Given the description of an element on the screen output the (x, y) to click on. 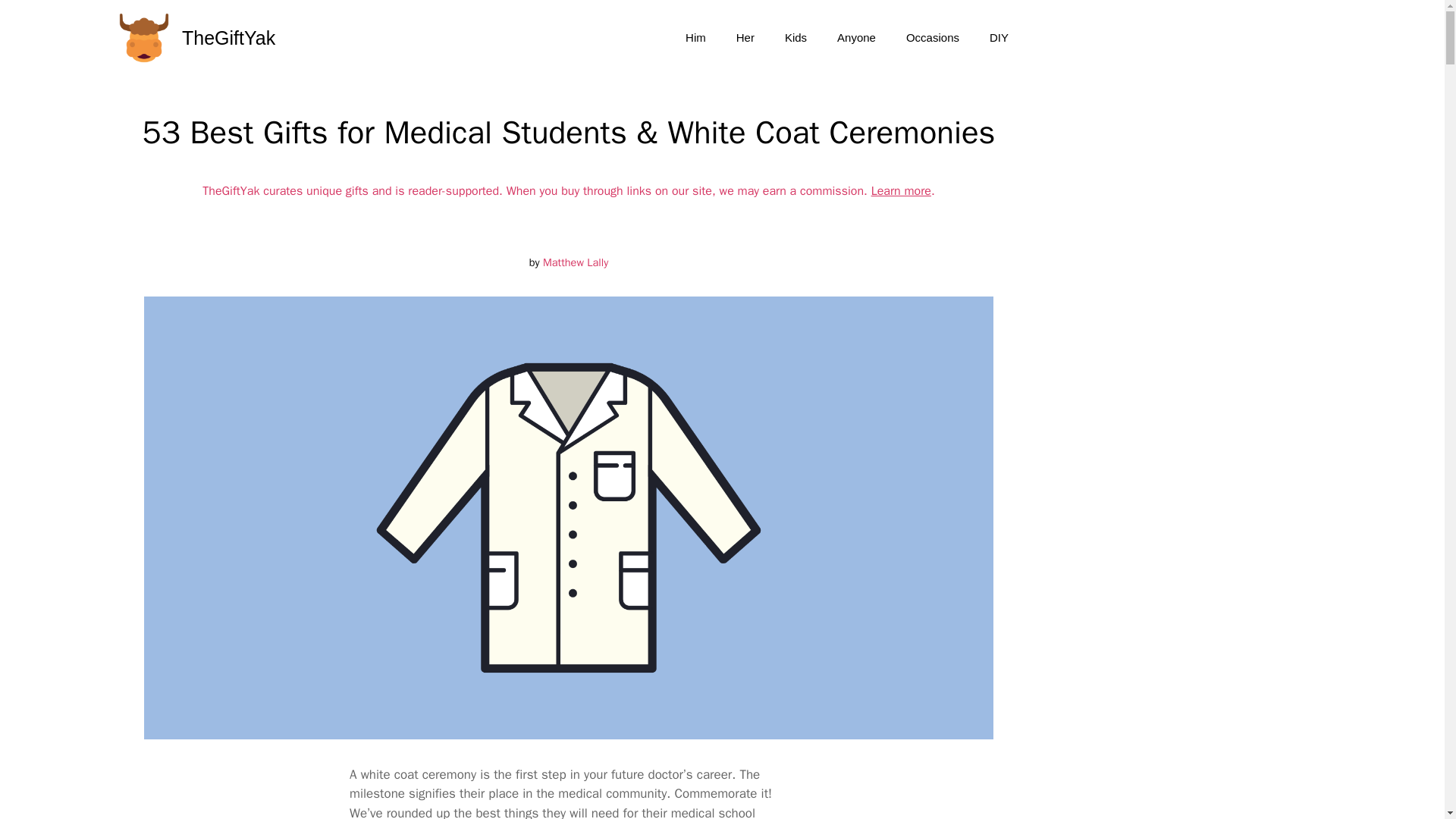
DIY (998, 37)
Learn more (900, 191)
Occasions (932, 37)
Kids (796, 37)
View all posts by Matthew Lally (575, 262)
Matthew Lally (575, 262)
Him (694, 37)
Anyone (856, 37)
Her (745, 37)
TheGiftYak (228, 38)
